Given the description of an element on the screen output the (x, y) to click on. 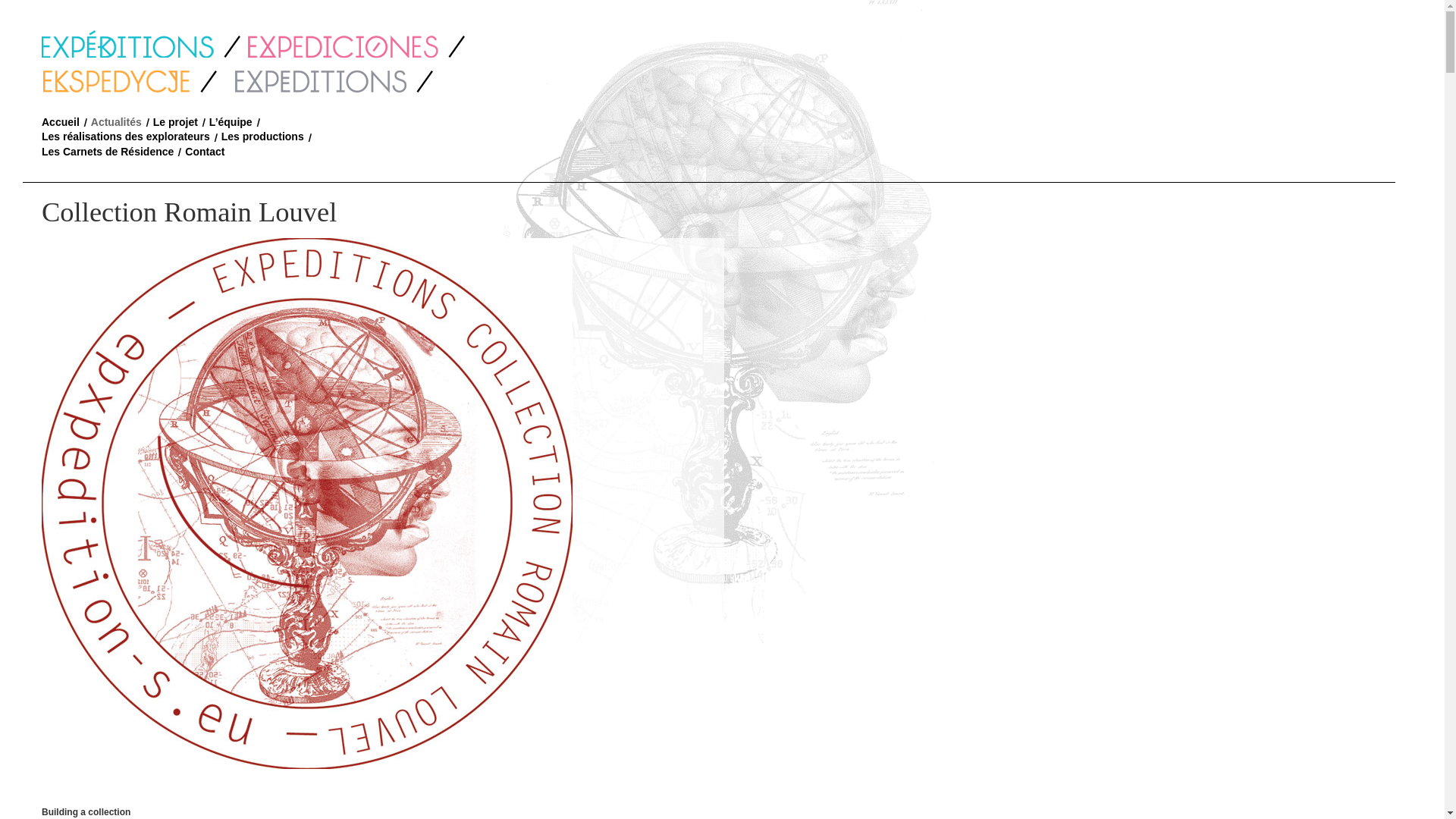
Accueil (61, 121)
Expediciones (355, 43)
Expedict (333, 78)
Le projet (175, 121)
Eksepedycje (134, 78)
Contact (204, 151)
Les productions (262, 136)
